Given the description of an element on the screen output the (x, y) to click on. 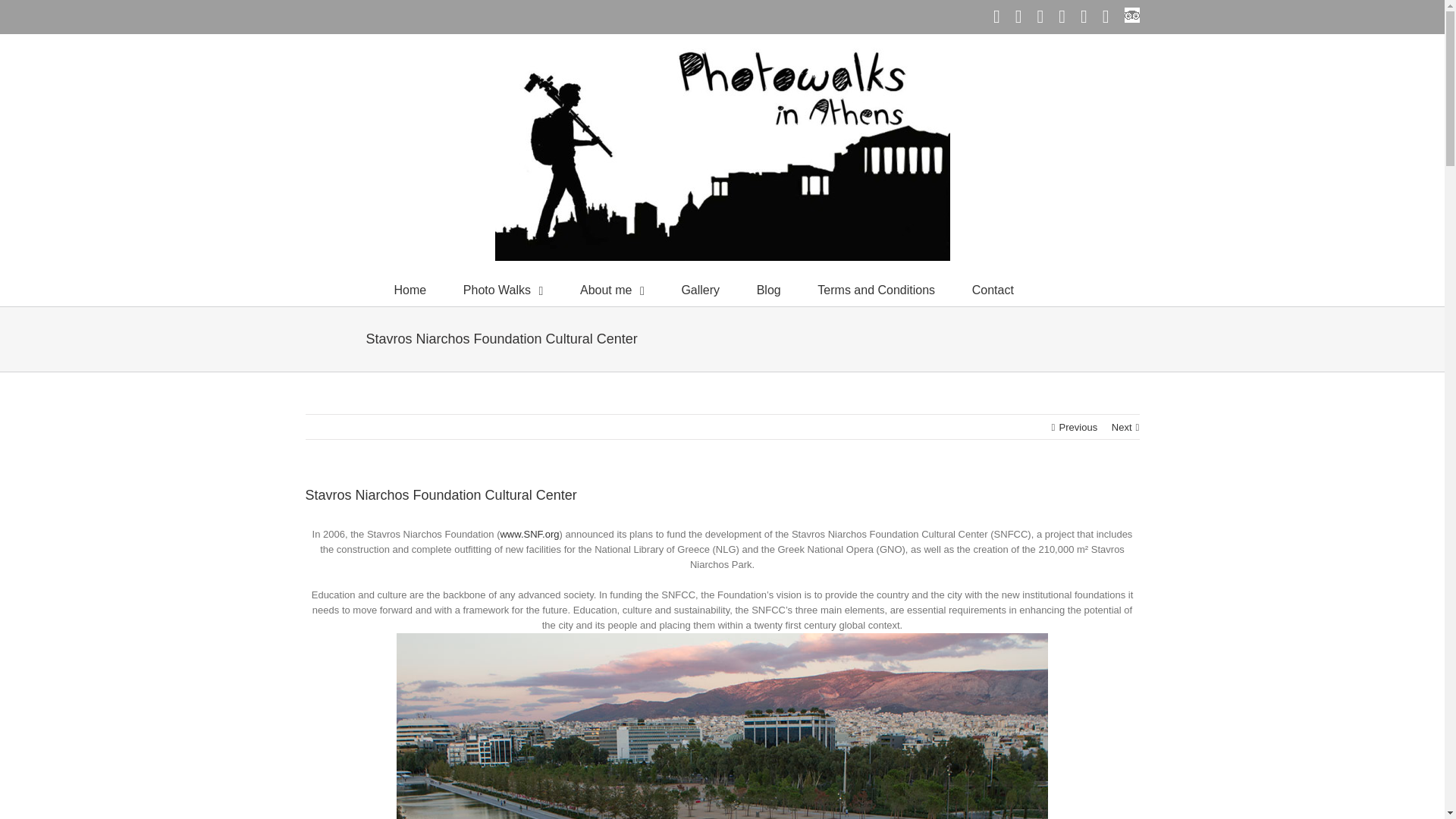
About me (612, 288)
Photo Walks (503, 288)
Gallery (700, 288)
Home (410, 288)
Terms and Conditions (875, 288)
Contact (992, 288)
